Given the description of an element on the screen output the (x, y) to click on. 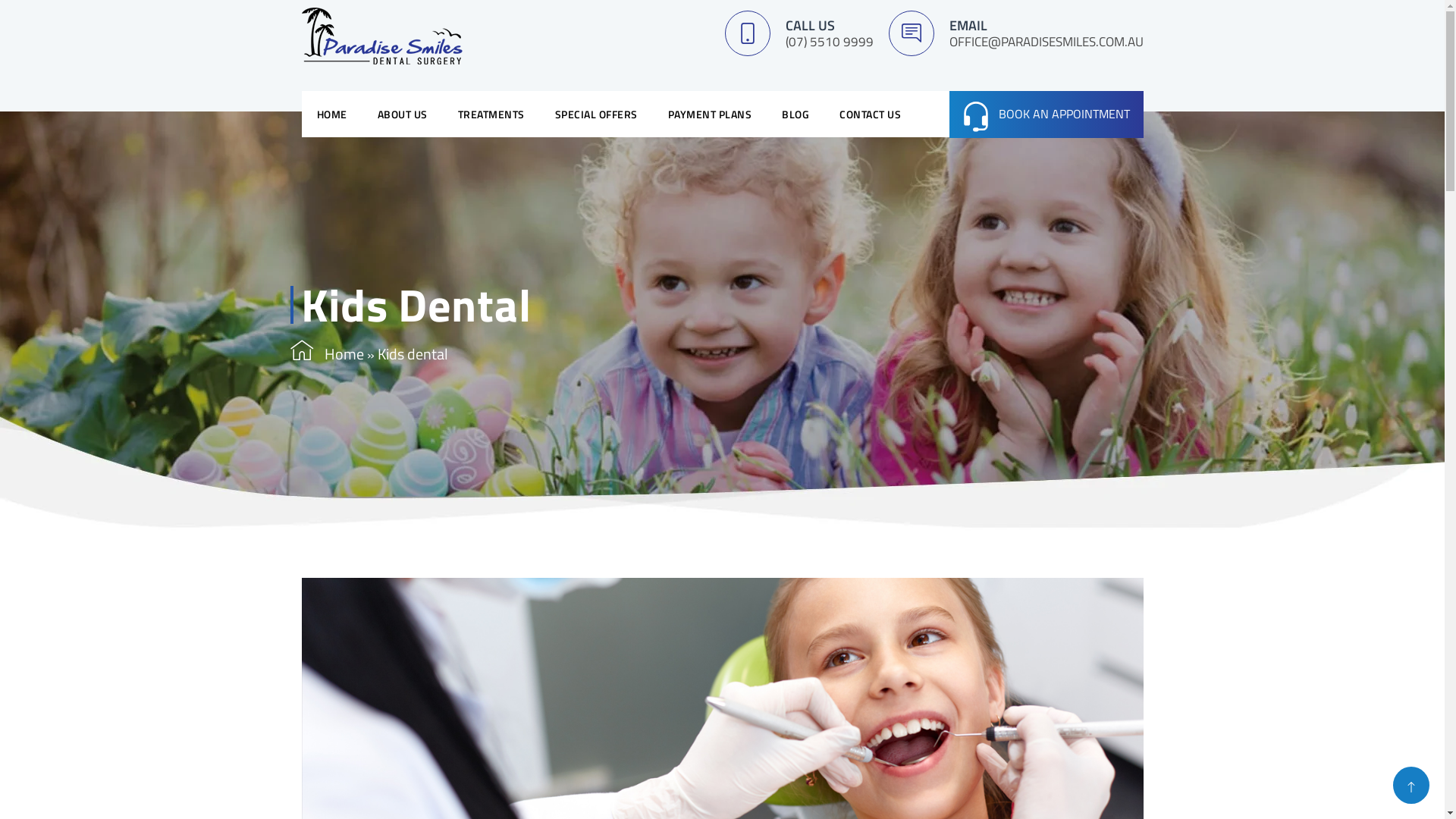
BLOG Element type: text (795, 114)
Home Element type: text (344, 353)
CONTACT US Element type: text (869, 114)
Click to return on the top page Element type: hover (1411, 784)
BOOK AN APPOINTMENT Element type: text (1045, 114)
ABOUT US Element type: text (402, 114)
PAYMENT PLANS Element type: text (709, 114)
(07) 5510 9999 Element type: text (829, 41)
SPECIAL OFFERS Element type: text (596, 114)
TREATMENTS Element type: text (491, 114)
OFFICE@PARADISESMILES.COM.AU Element type: text (1046, 41)
HOME Element type: text (331, 114)
